Given the description of an element on the screen output the (x, y) to click on. 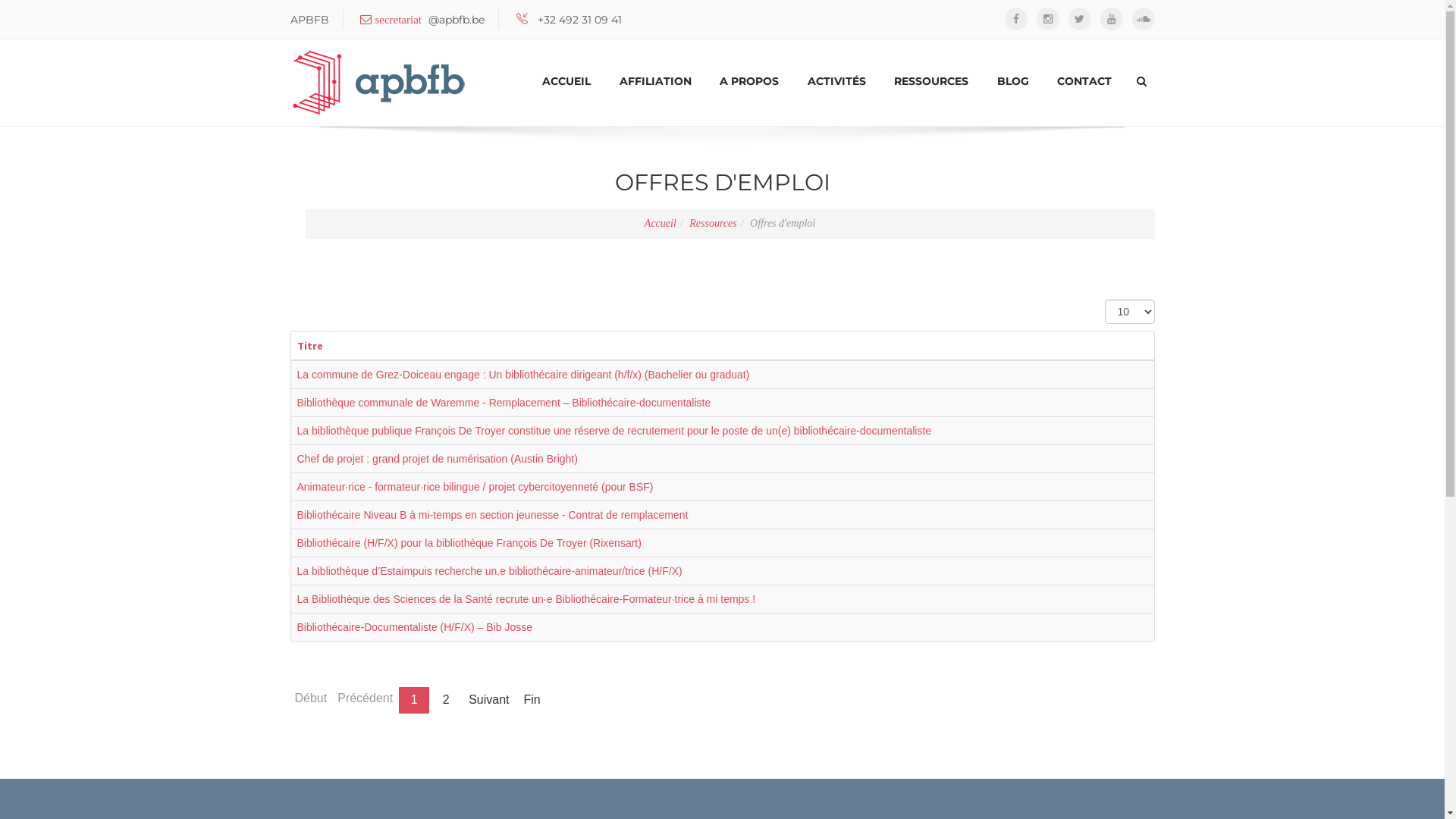
1 Element type: text (413, 700)
A PROPOS Element type: text (749, 80)
BLOG Element type: text (1012, 80)
ACCUEIL Element type: text (566, 80)
Fin Element type: text (532, 700)
Ressources Element type: text (712, 223)
APBFB Element type: hover (381, 82)
2 Element type: text (445, 700)
Suivant Element type: text (488, 700)
Titre Element type: text (310, 345)
RESSOURCES Element type: text (930, 80)
CONTACT Element type: text (1084, 80)
Accueil Element type: text (660, 223)
AFFILIATION Element type: text (655, 80)
